Given the description of an element on the screen output the (x, y) to click on. 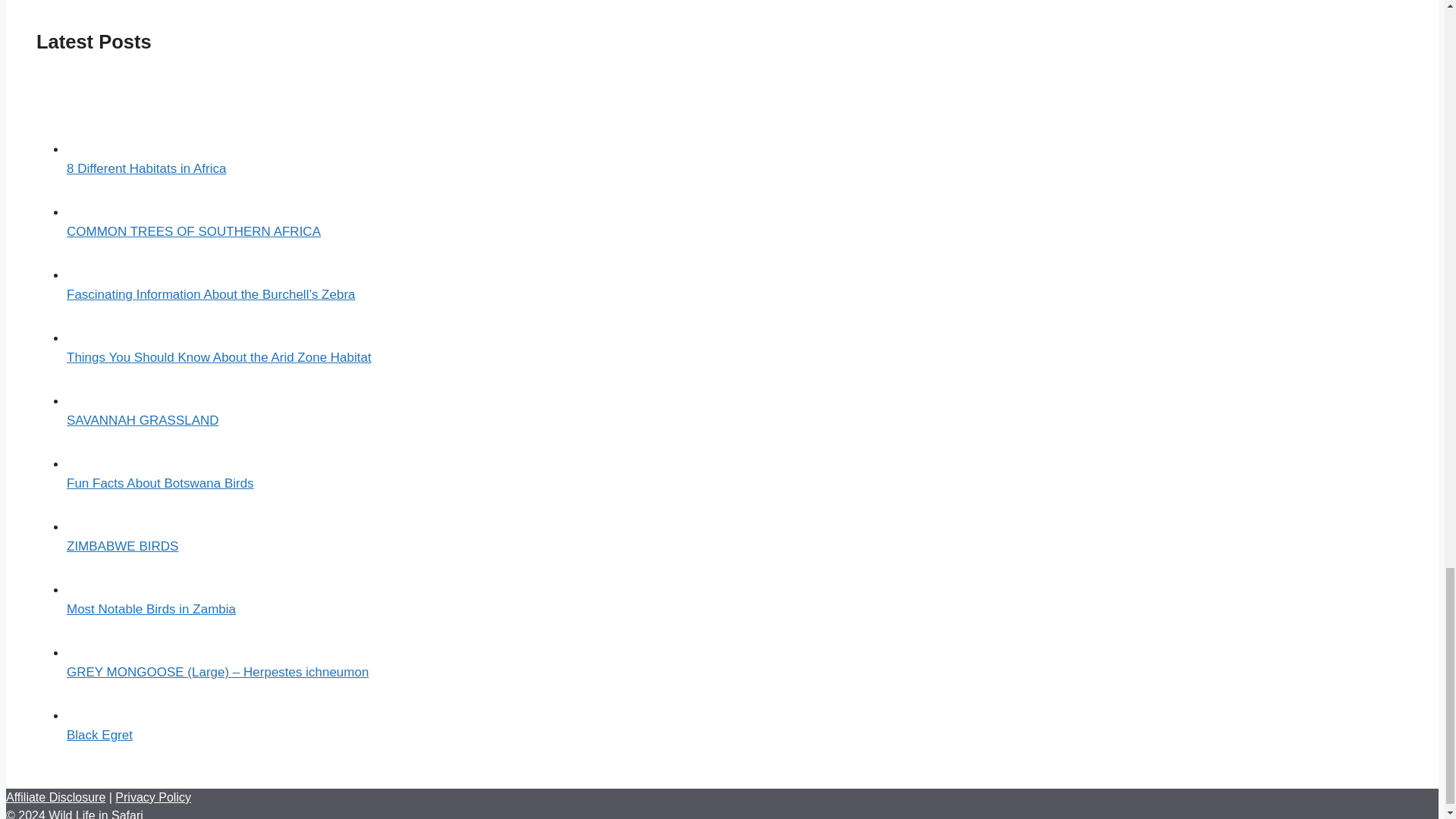
Things You Should Know About the Arid Zone Habitat (218, 357)
COMMON TREES OF SOUTHERN AFRICA (193, 231)
Fun Facts About Botswana Birds (159, 482)
8 Different Habitats in Africa (145, 168)
SAVANNAH GRASSLAND (142, 420)
